Given the description of an element on the screen output the (x, y) to click on. 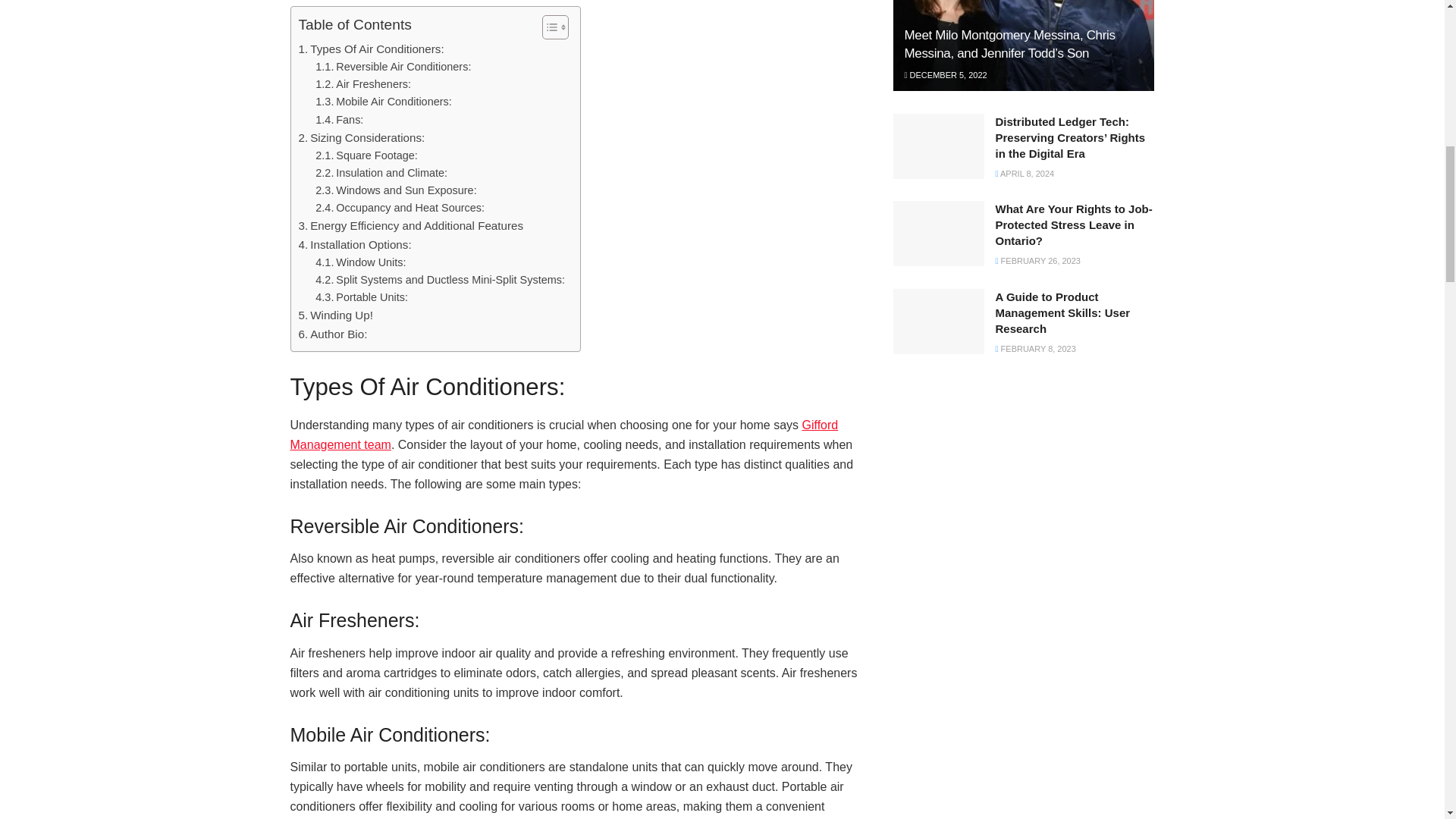
Author Bio: (333, 334)
Insulation and Climate: (380, 172)
Occupancy and Heat Sources: (399, 208)
Portable Units: (361, 297)
Winding Up! (335, 315)
Energy Efficiency and Additional Features (411, 226)
Sizing Considerations: (361, 137)
Fans: (338, 119)
Air Fresheners: (362, 84)
Split Systems and Ductless Mini-Split Systems: (439, 280)
Windows and Sun Exposure: (395, 190)
Types Of Air Conditioners: (371, 49)
Window Units: (360, 262)
Square Footage: (366, 155)
Mobile Air Conditioners: (383, 101)
